Given the description of an element on the screen output the (x, y) to click on. 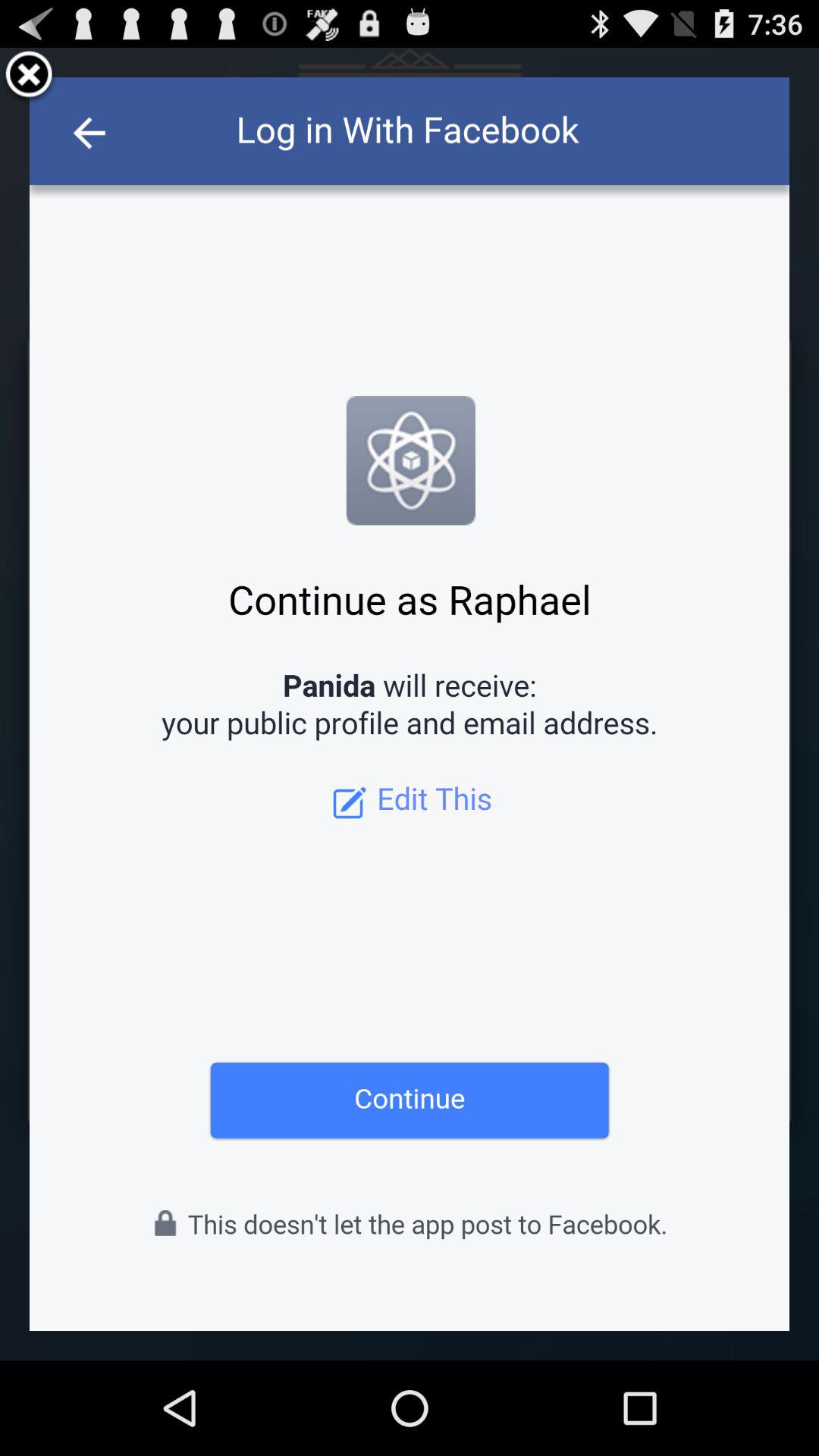
exit screen (29, 76)
